Given the description of an element on the screen output the (x, y) to click on. 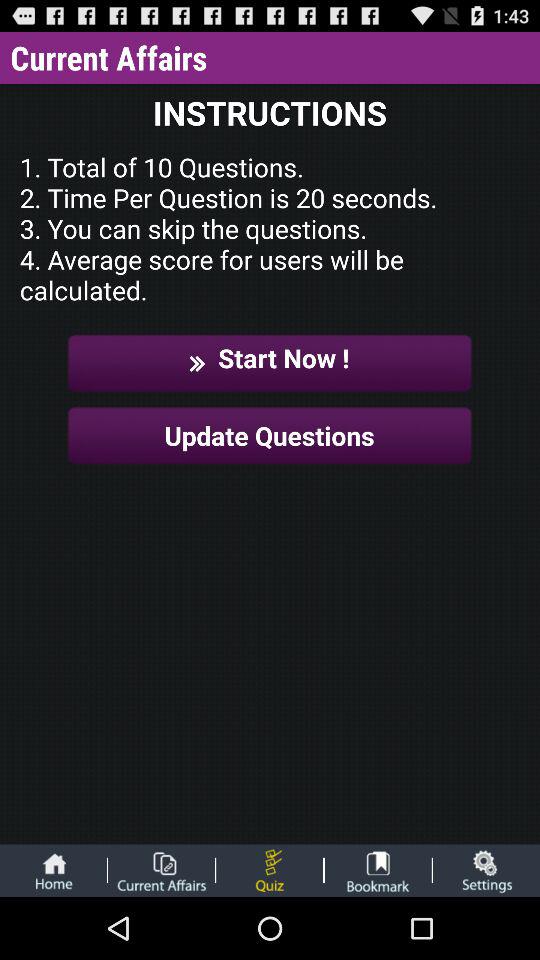
opens up the quiz part of the app (269, 870)
